Given the description of an element on the screen output the (x, y) to click on. 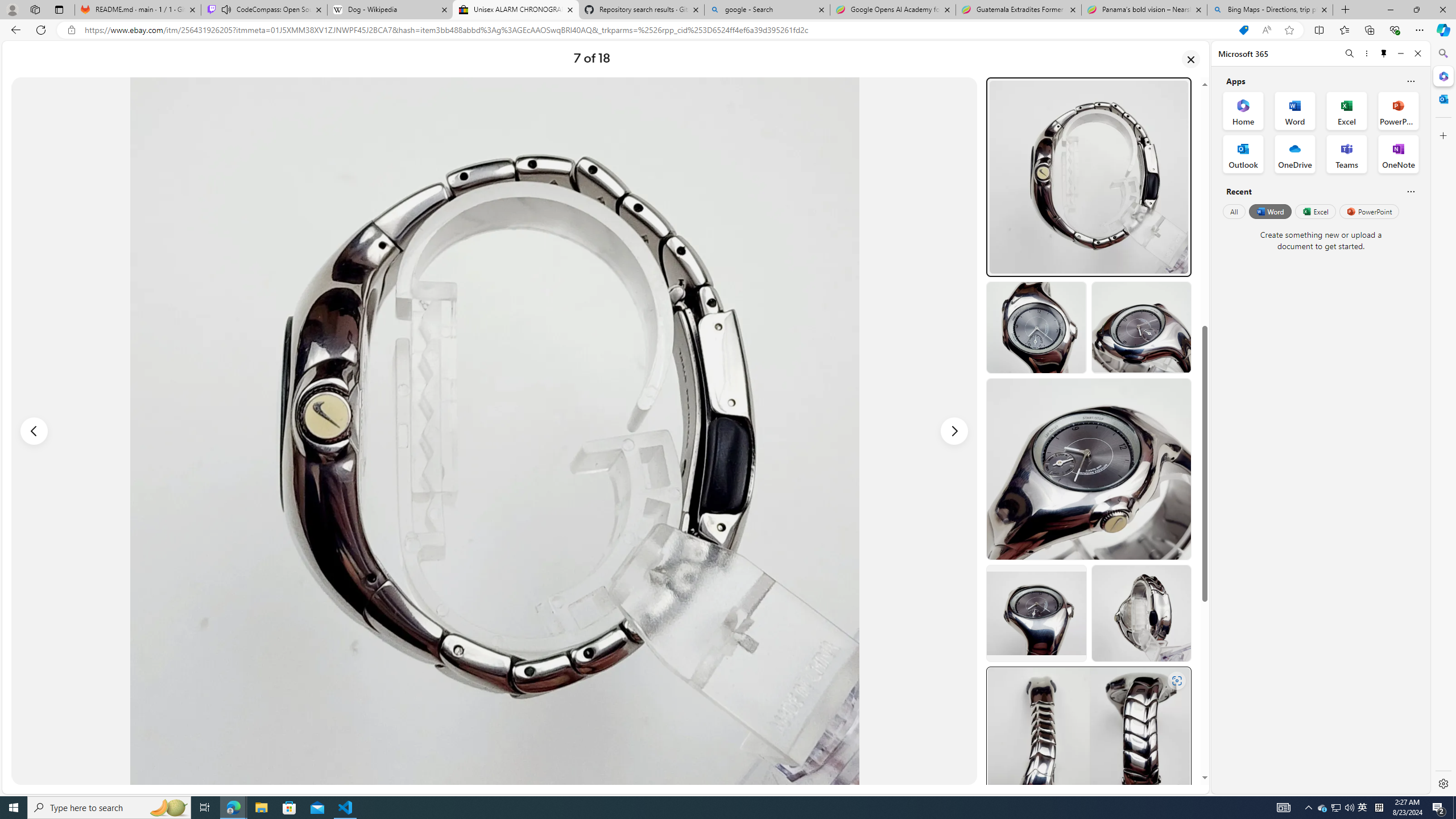
Excel (1315, 210)
OneDrive Office App (1295, 154)
You have the best price! Shopping in Microsoft Edge (1243, 29)
Close image gallery dialog (1190, 58)
Google Opens AI Academy for Startups - Nearshore Americas (892, 9)
